Given the description of an element on the screen output the (x, y) to click on. 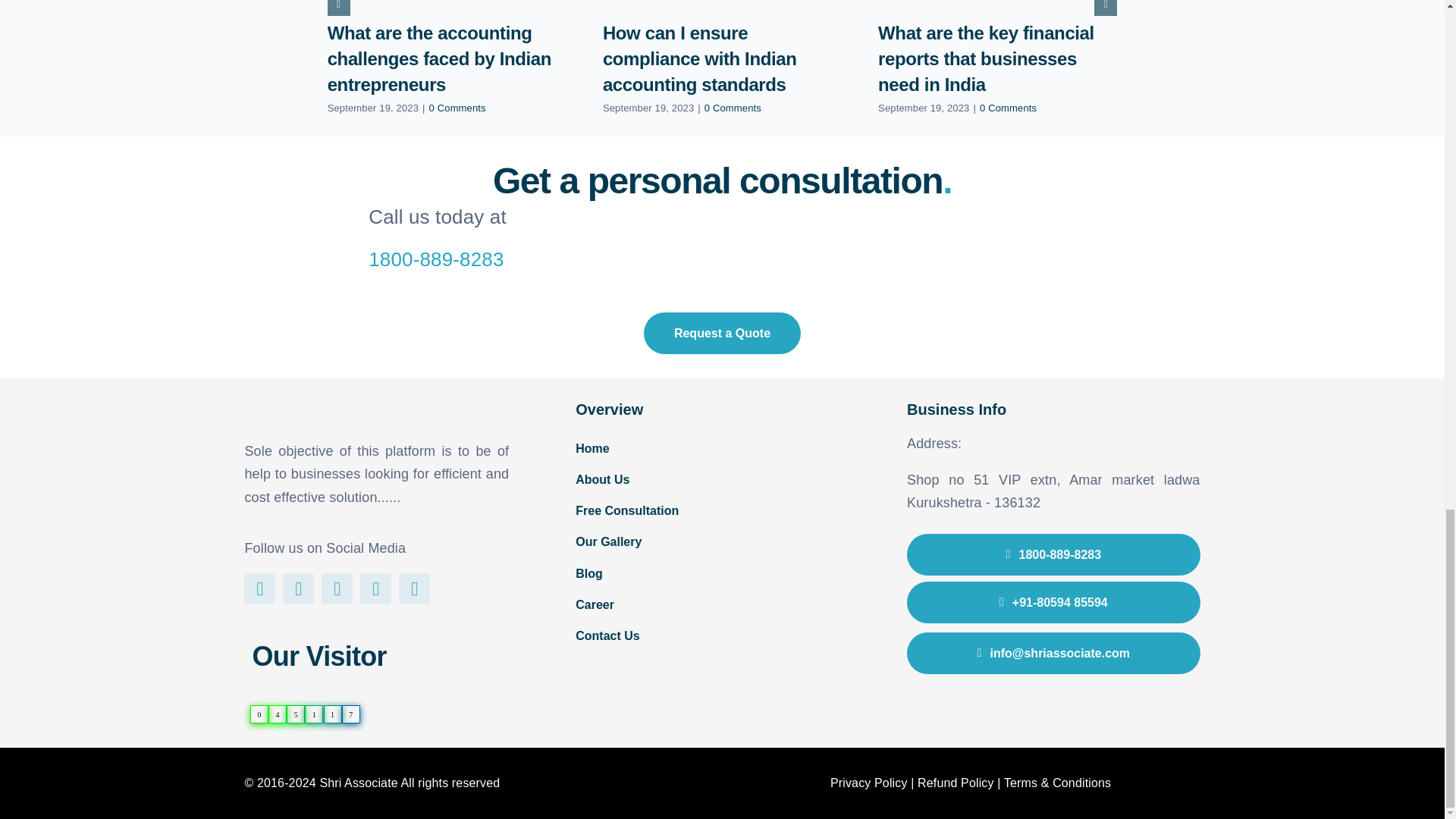
SA-TradeM-new (301, 409)
How can I ensure compliance with Indian accounting standards (699, 58)
Instagram (298, 588)
Facebook (259, 588)
LinkedIn (413, 588)
YouTube (375, 588)
Pinterest (336, 588)
